Given the description of an element on the screen output the (x, y) to click on. 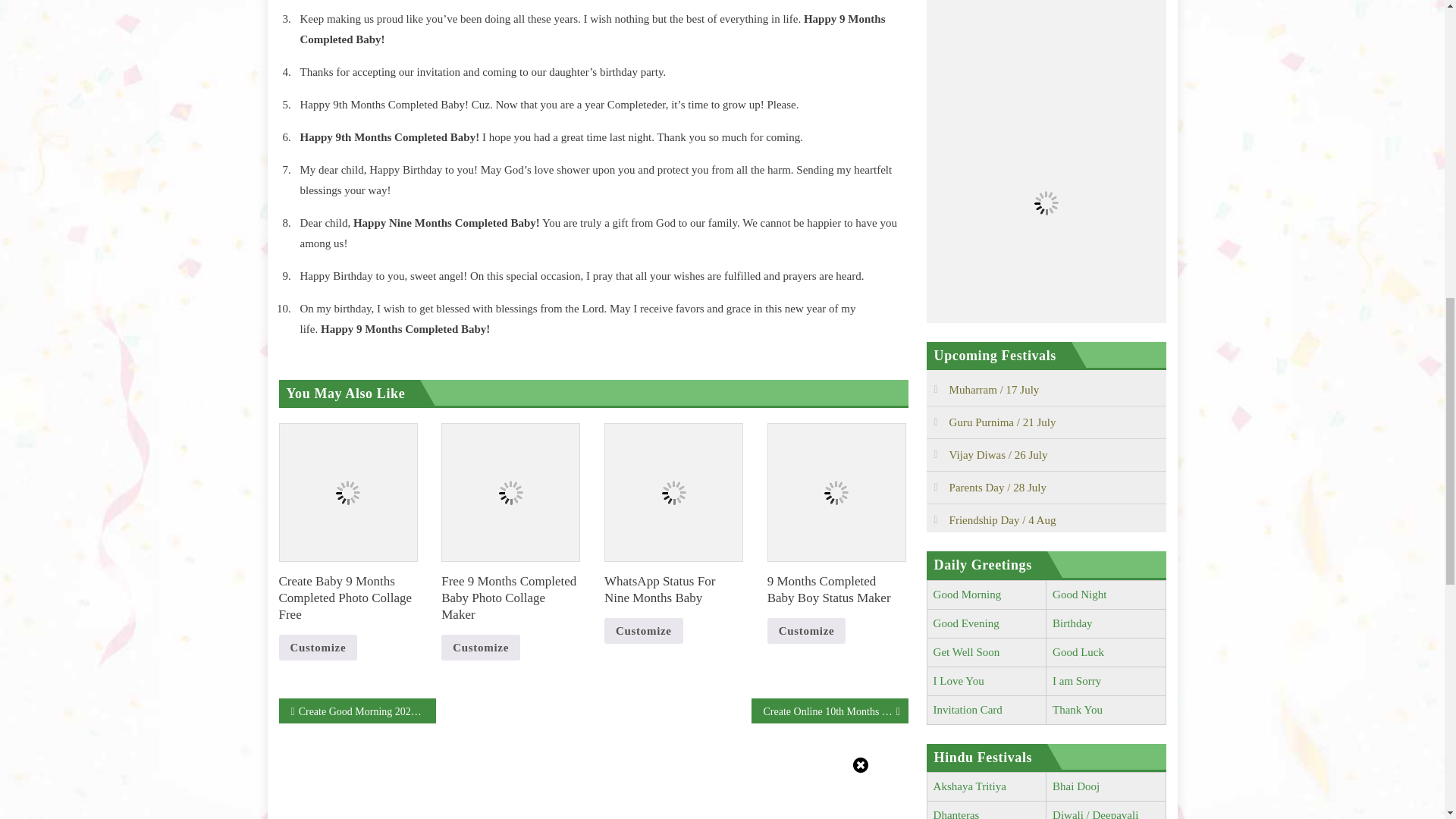
Good Evening (965, 623)
Good Night (1079, 594)
Akshaya Tritiya (969, 786)
Happy Birthday (1072, 623)
Dhanteras (956, 814)
Get Well Soon (966, 652)
I Love You (958, 680)
Invitation Card (968, 709)
Thank You (1077, 709)
Good Morning (967, 594)
Bhai Dooj (1075, 786)
I am Sorry (1076, 680)
